Given the description of an element on the screen output the (x, y) to click on. 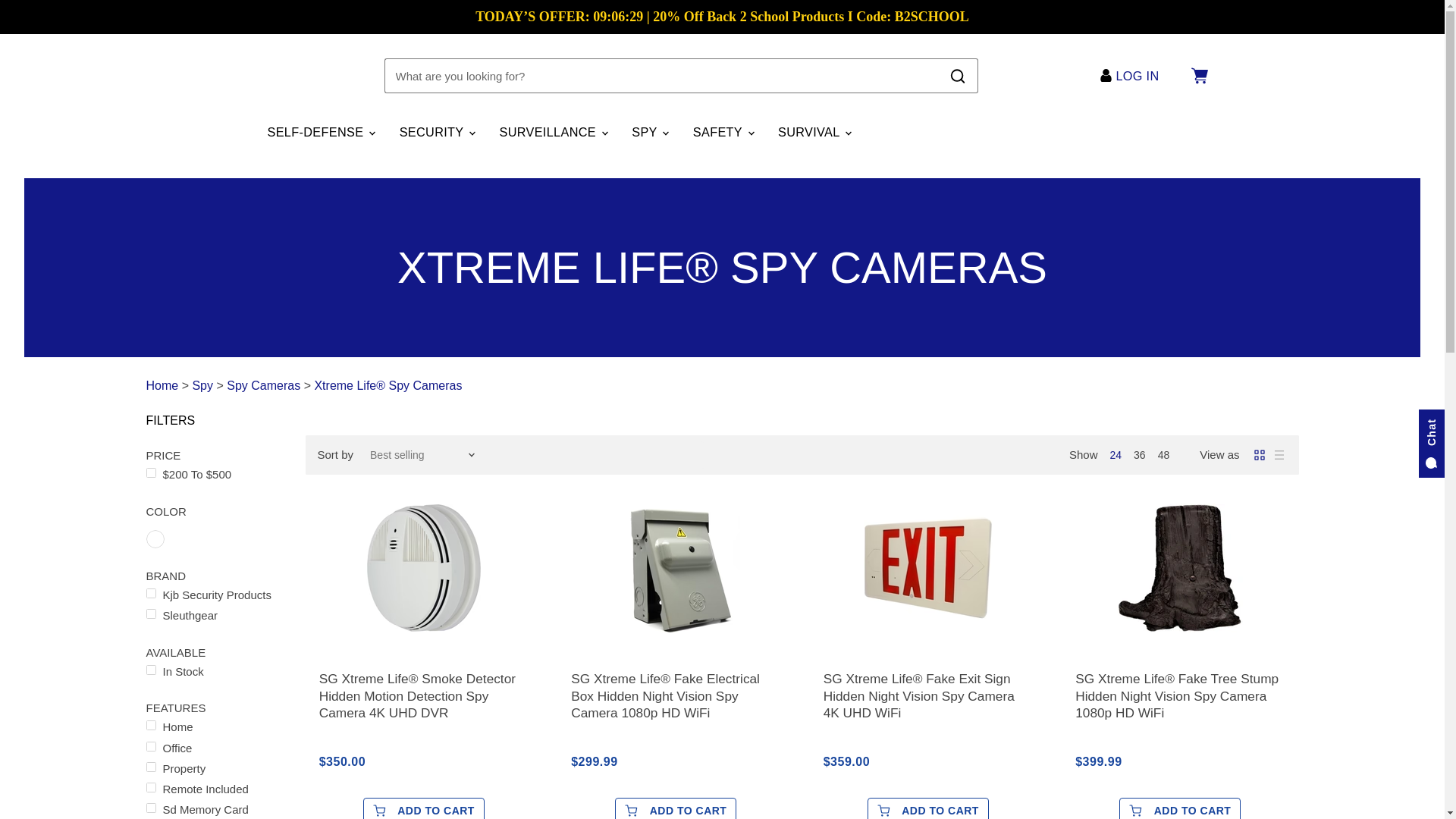
View cart (1199, 75)
SELF-DEFENSE (320, 132)
Narrow selection to products matching tag brand-sleuthgear (215, 615)
Grid icon (1258, 454)
Narrow selection to products matching tag features-property (215, 768)
List icon (1278, 454)
ACCOUNT ICON LOG IN (1133, 75)
Narrow selection to products matching tag features-home (215, 726)
